Given the description of an element on the screen output the (x, y) to click on. 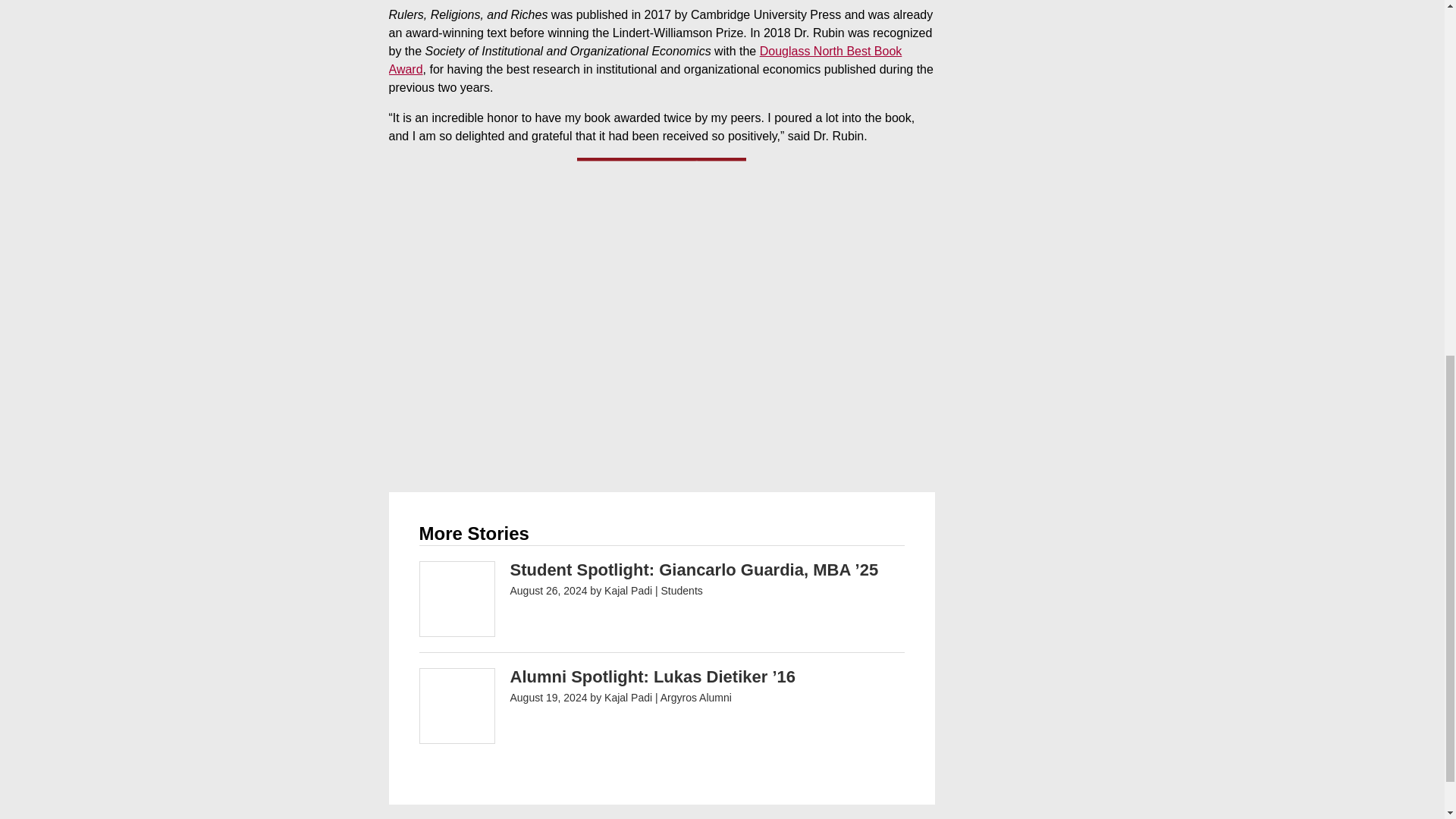
Posts by Kajal Padi (628, 697)
Posts by Kajal Padi (628, 590)
Students (682, 590)
Argyros Alumni (696, 697)
Kajal Padi (628, 697)
Kajal Padi (628, 590)
Douglass North Best Book Award (644, 60)
